Given the description of an element on the screen output the (x, y) to click on. 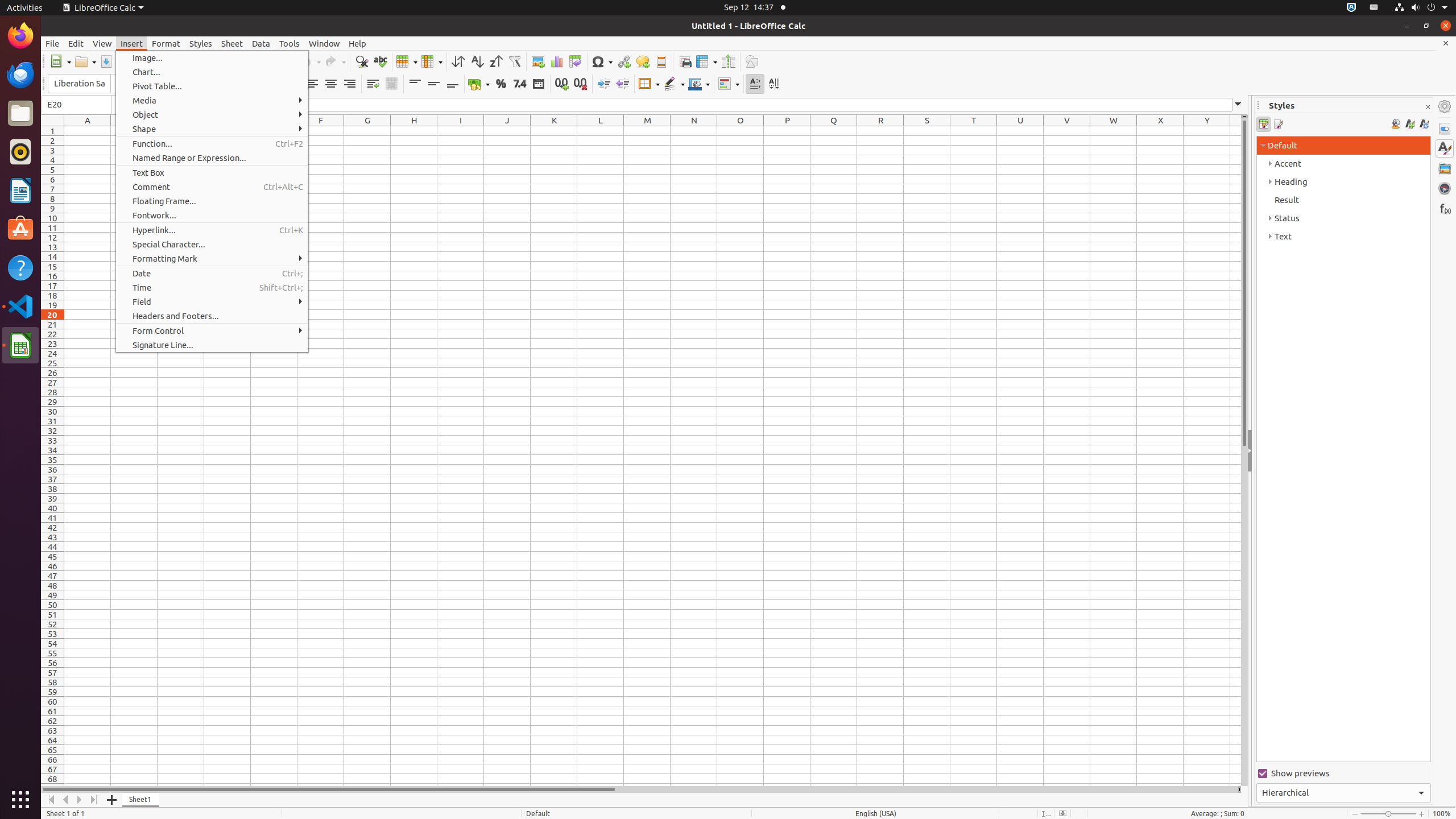
Border Style Element type: push-button (673, 83)
Close Sidebar Deck Element type: push-button (1427, 106)
Data Element type: menu (260, 43)
Hyperlink Element type: toggle-button (623, 61)
L1 Element type: table-cell (600, 130)
